Given the description of an element on the screen output the (x, y) to click on. 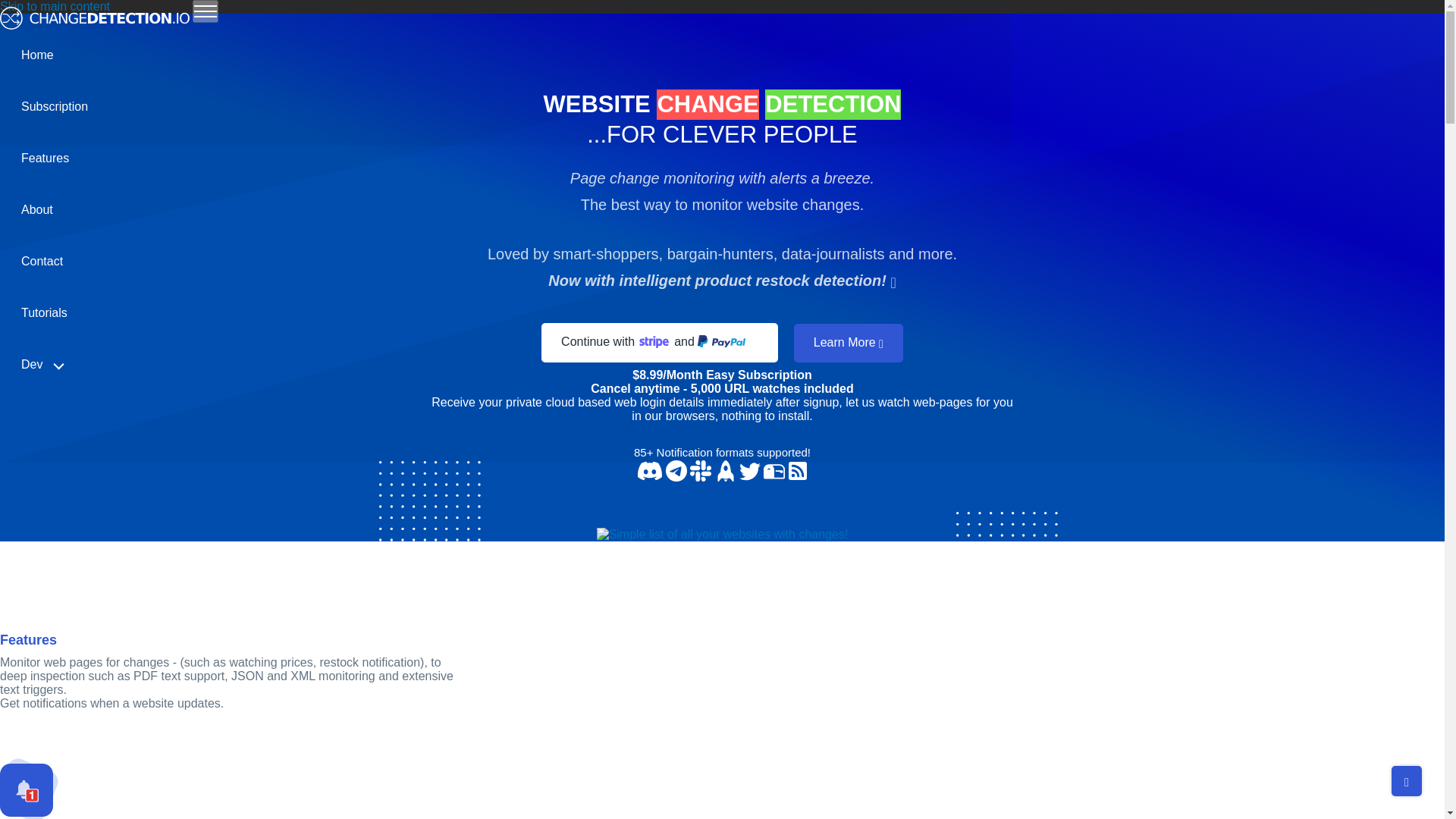
Learn More (847, 342)
Subscription (54, 106)
Skip to main content (55, 6)
Tutorials (44, 313)
back to top (1406, 780)
Simple list of all your websites with changes! (722, 534)
Features (44, 158)
GitHub (76, 401)
Toggle navigation bar (205, 11)
Contact (41, 261)
